Given the description of an element on the screen output the (x, y) to click on. 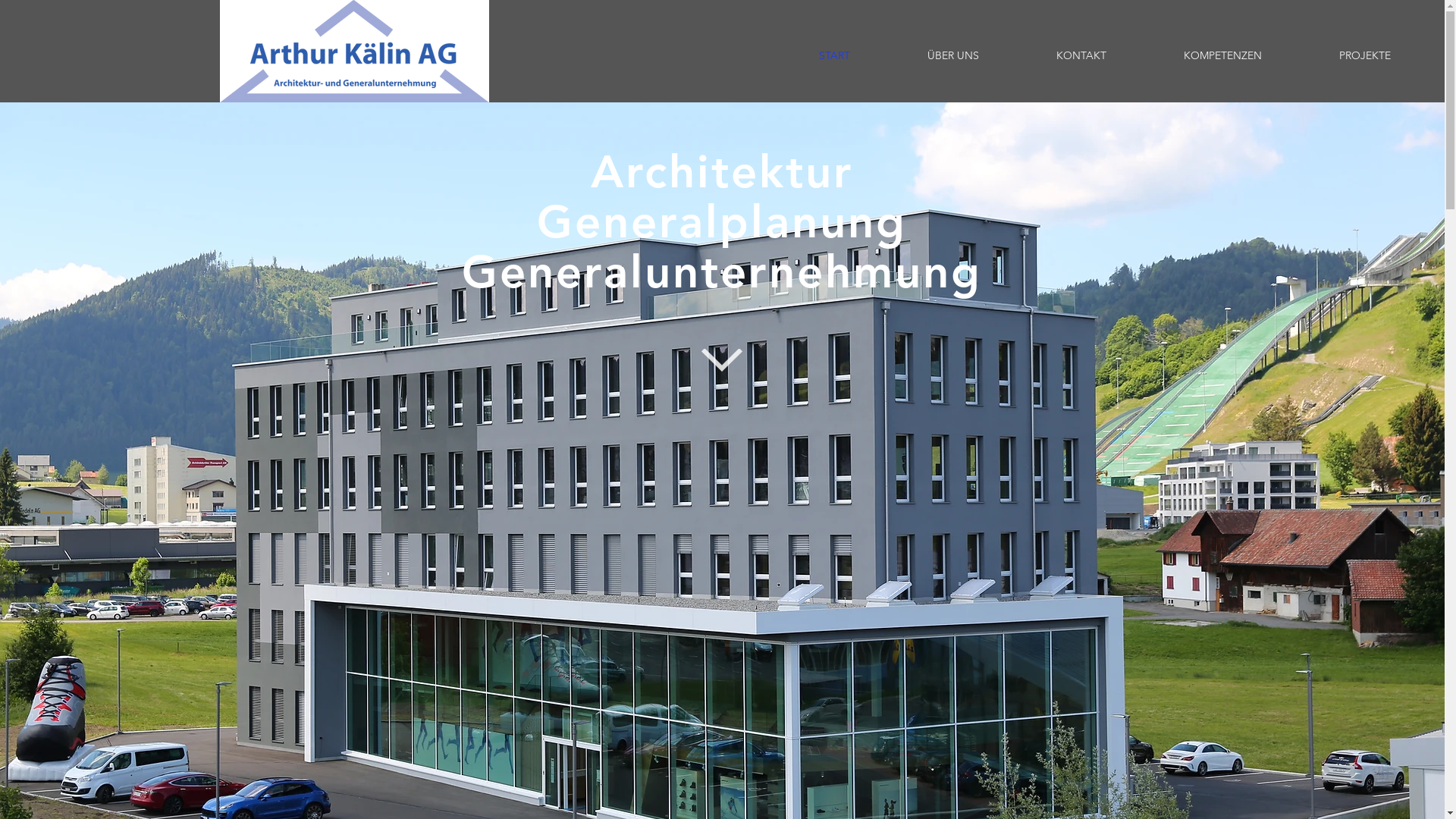
PROJEKTE Element type: text (1364, 55)
START Element type: text (833, 55)
KOMPETENZEN Element type: text (1222, 55)
KONTAKT Element type: text (1081, 55)
